Given the description of an element on the screen output the (x, y) to click on. 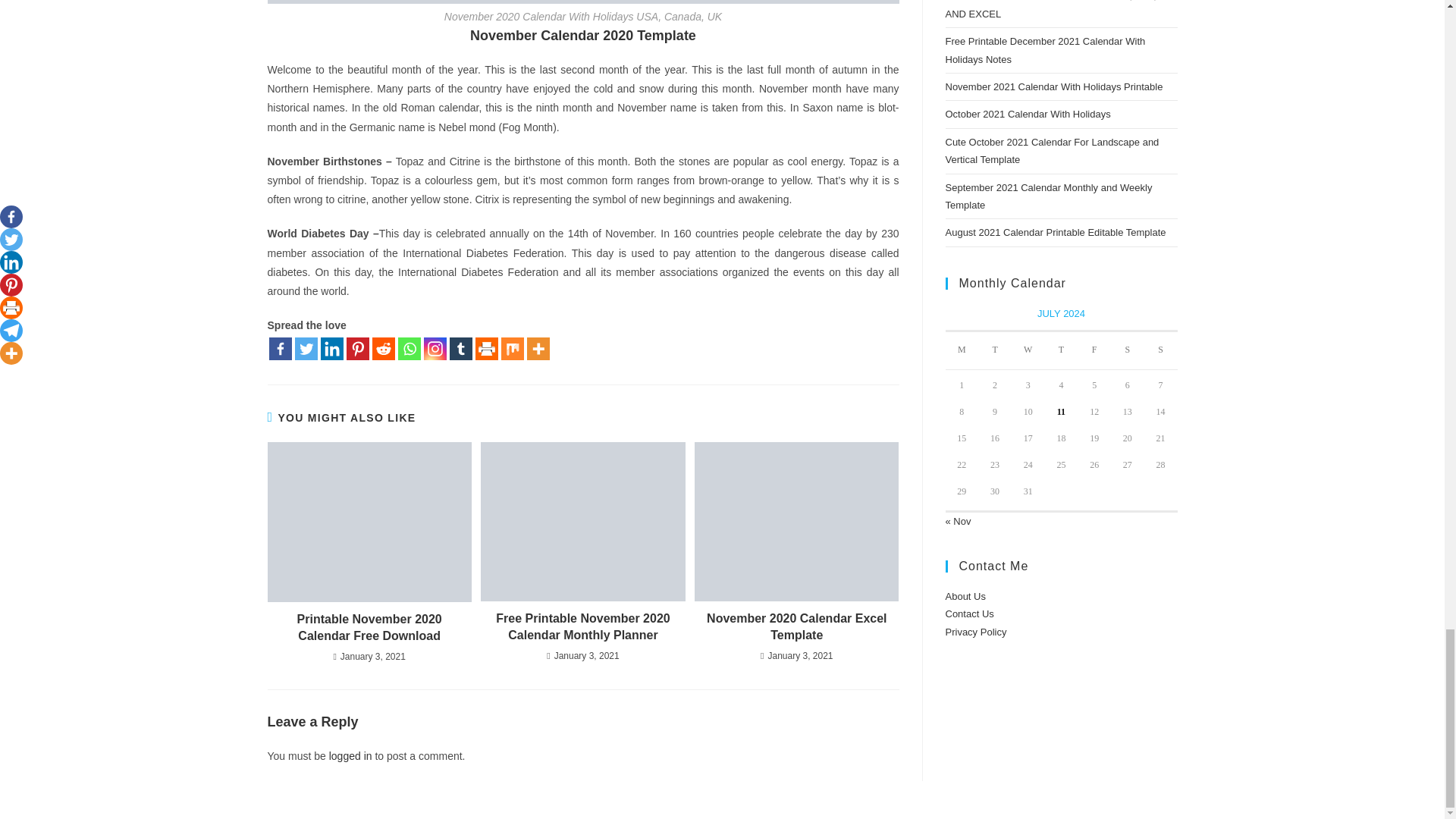
Mix (511, 348)
Instagram (434, 348)
Twitter (305, 348)
Facebook (279, 348)
Whatsapp (408, 348)
Linkedin (331, 348)
Pinterest (357, 348)
More (536, 348)
Print (485, 348)
Reddit (382, 348)
Tumblr (459, 348)
